Given the description of an element on the screen output the (x, y) to click on. 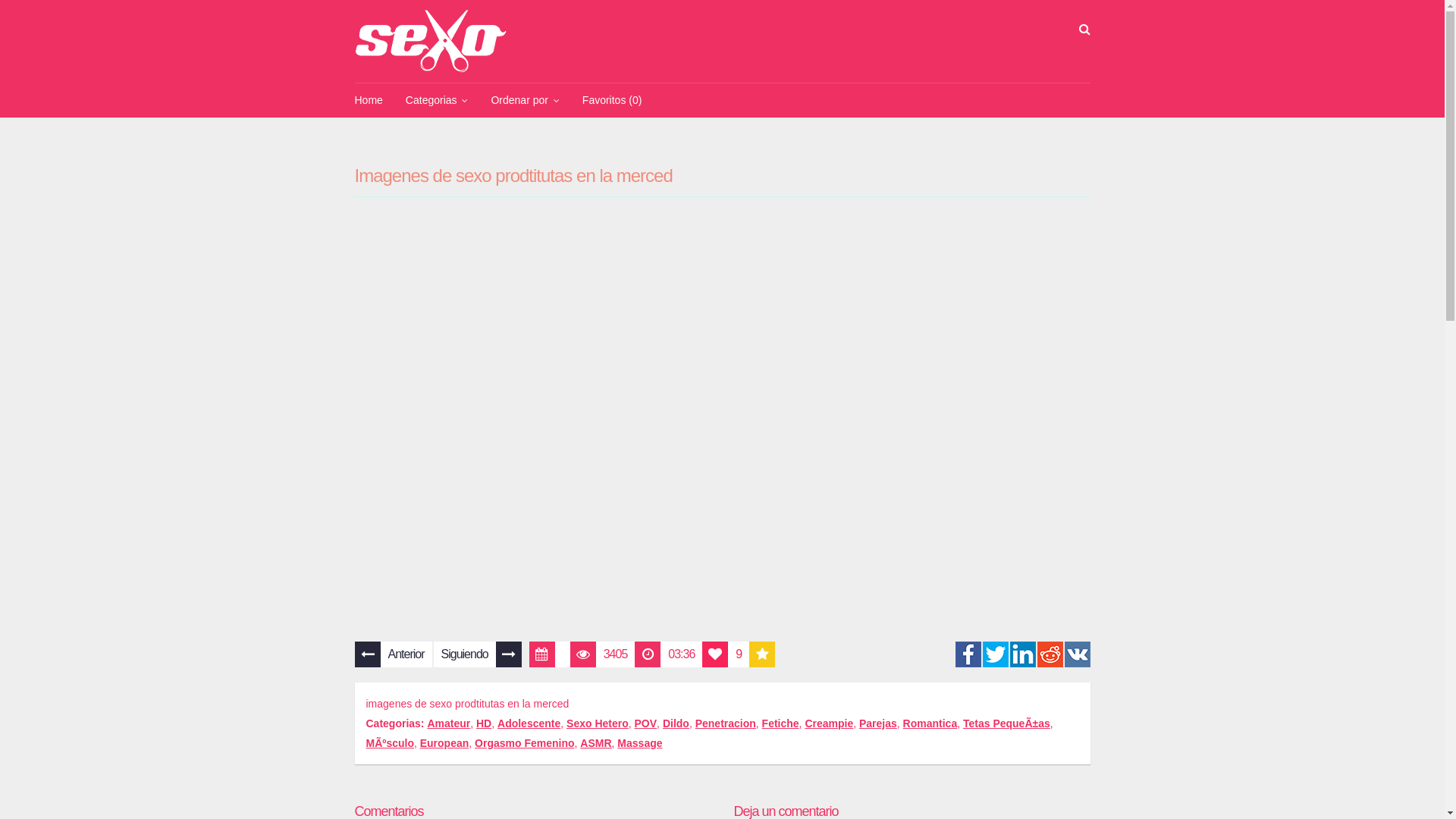
Orgasmo Femenino Element type: text (524, 743)
Fetiche Element type: text (780, 723)
Sexo Hetero Element type: text (597, 723)
Ordenar por Element type: text (524, 100)
Dildo Element type: text (675, 723)
Parejas Element type: text (878, 723)
Amateur Element type: text (448, 723)
Romantica Element type: text (930, 723)
European Element type: text (444, 743)
Categorias Element type: text (437, 100)
ASMR Element type: text (595, 743)
Home Element type: text (367, 100)
POV Element type: text (645, 723)
Siguiendo Element type: text (477, 654)
Favoritos (0) Element type: text (612, 100)
Massage Element type: text (639, 743)
Creampie Element type: text (828, 723)
Anterior Element type: text (393, 654)
HD Element type: text (483, 723)
Penetracion Element type: text (725, 723)
Adolescente Element type: text (528, 723)
